Given the description of an element on the screen output the (x, y) to click on. 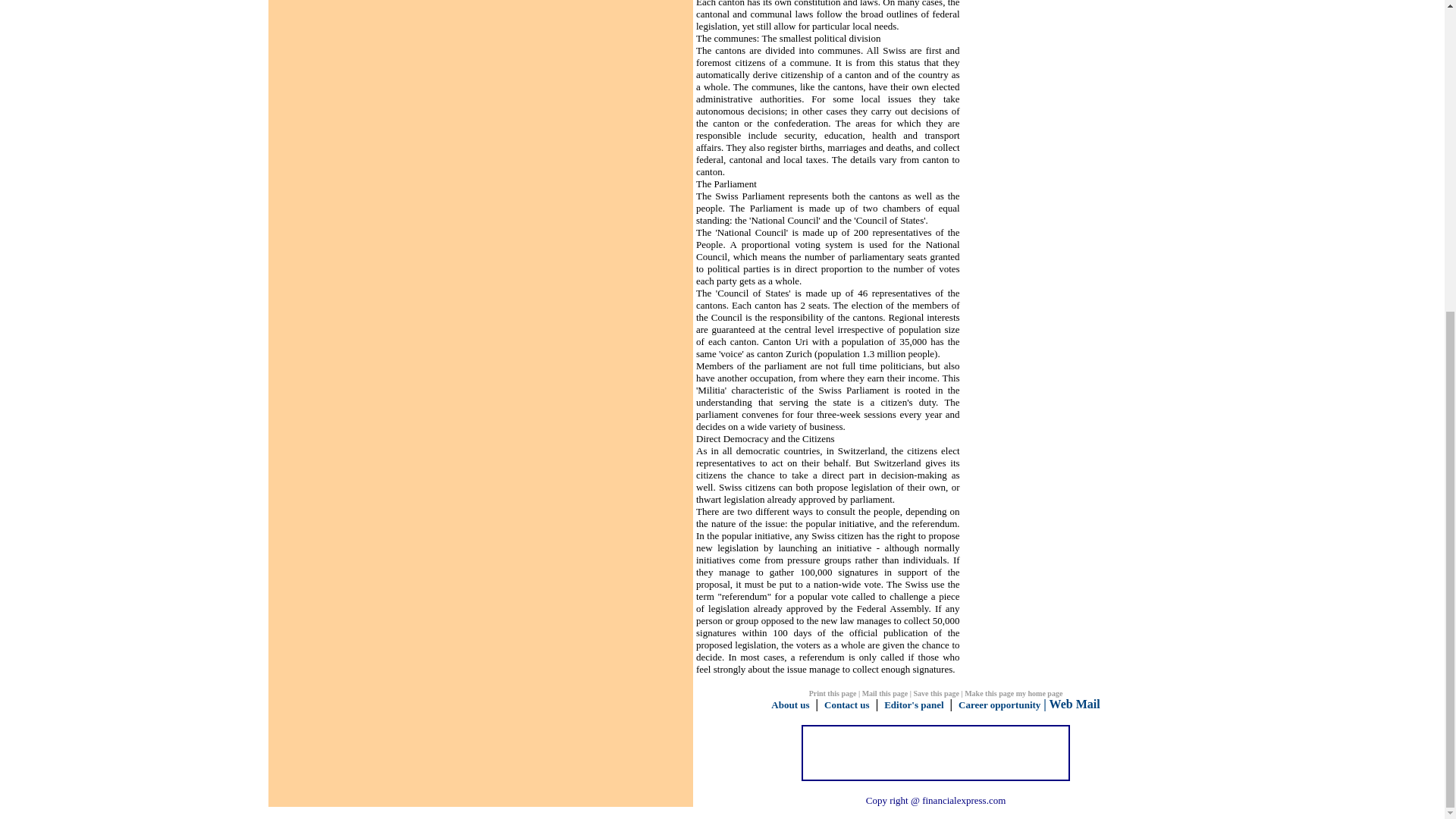
Contact us (846, 704)
About us (790, 704)
Mail this page (884, 693)
Make this page my home page (1012, 693)
Print this page (833, 693)
